Given the description of an element on the screen output the (x, y) to click on. 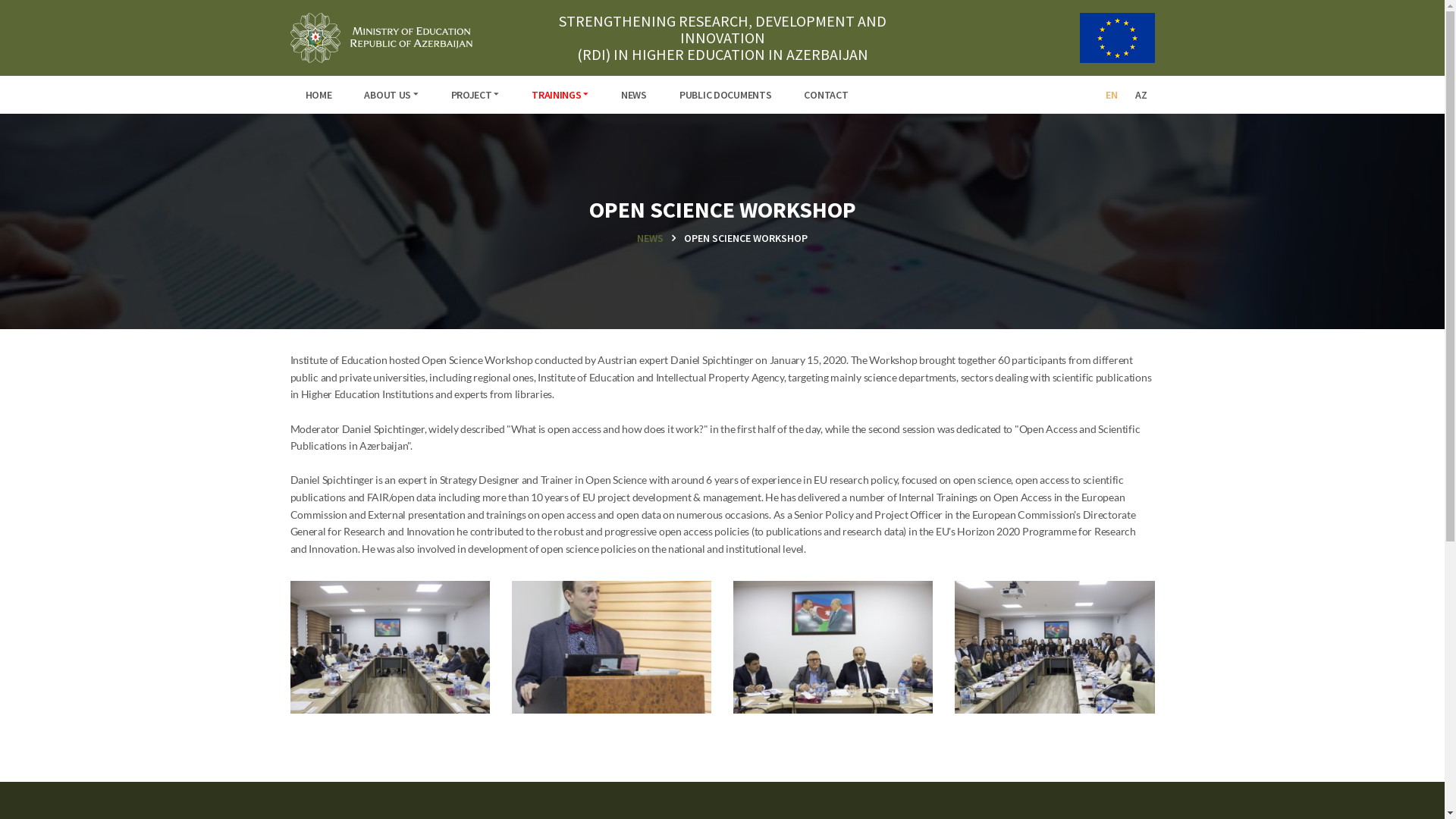
ABOUT US Element type: text (390, 94)
NEWS Element type: text (633, 94)
AZ Element type: text (1140, 94)
PUBLIC DOCUMENTS Element type: text (725, 94)
HOME Element type: text (317, 94)
TRAININGS Element type: text (559, 94)
NEWS Element type: text (659, 237)
PROJECT Element type: text (475, 94)
EN Element type: text (1111, 94)
CONTACT Element type: text (825, 94)
